Given the description of an element on the screen output the (x, y) to click on. 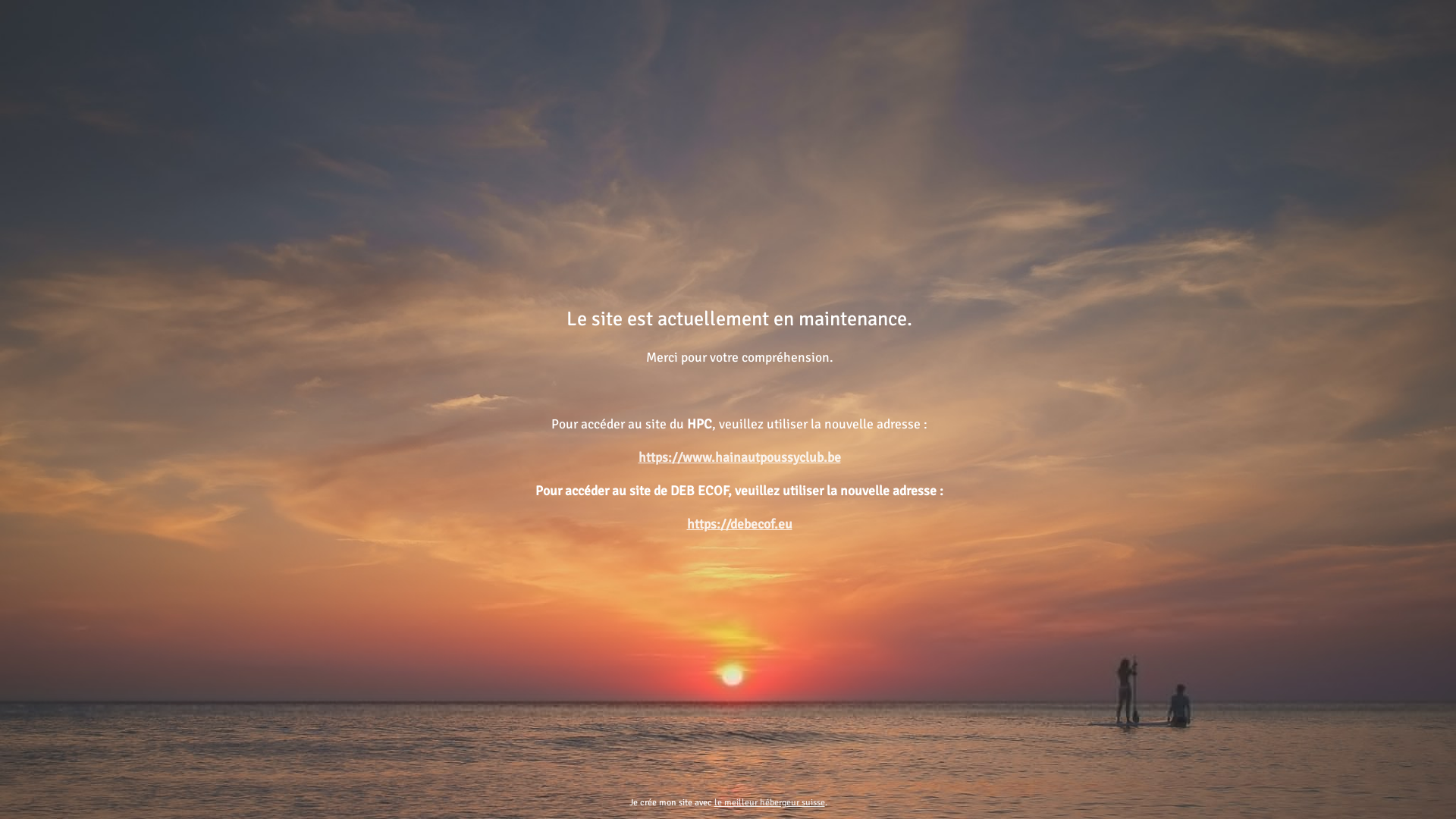
https://www.hainautpoussyclub.be Element type: text (739, 456)
https://debecof.eu Element type: text (739, 523)
